Given the description of an element on the screen output the (x, y) to click on. 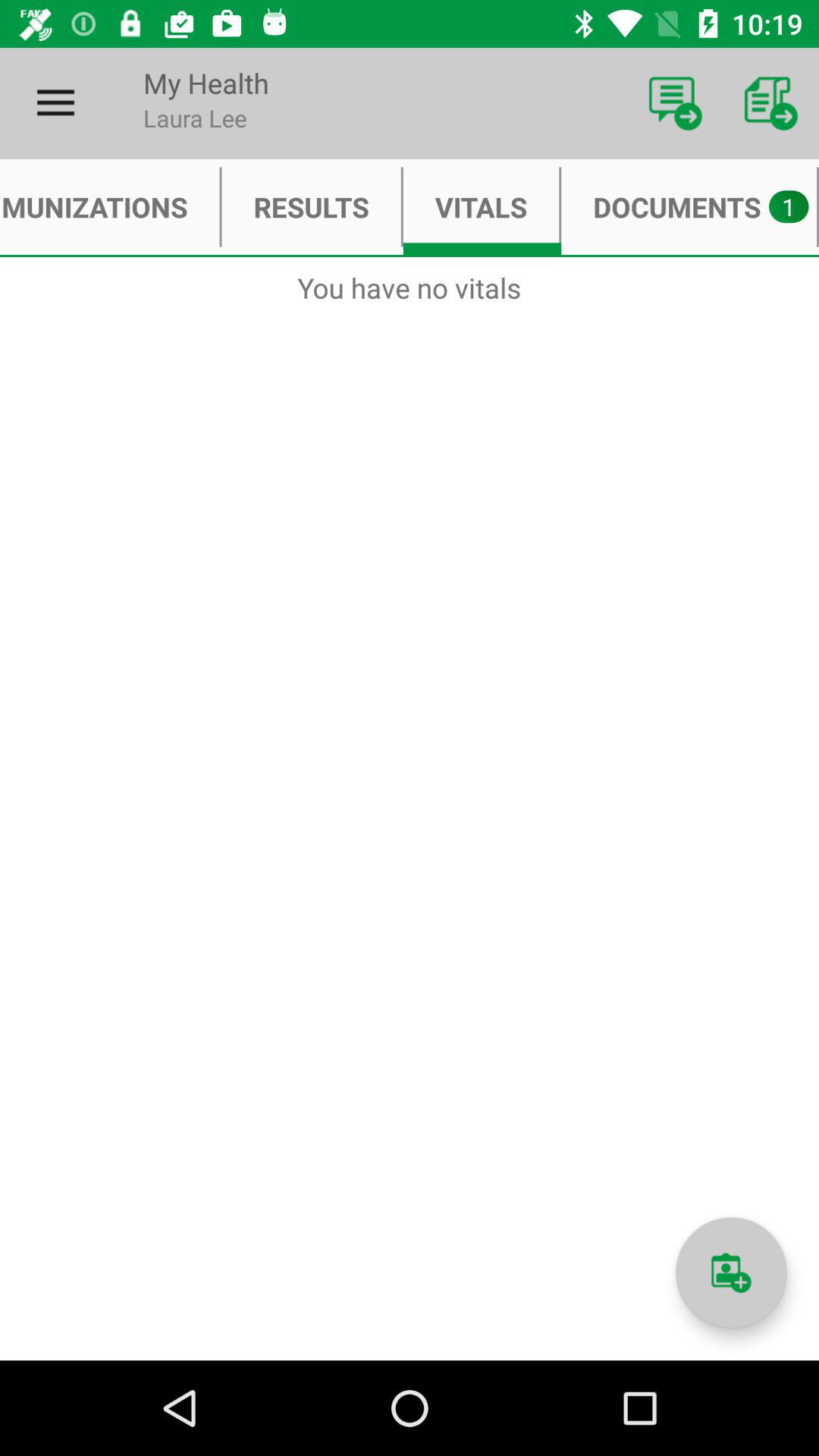
add new person (731, 1272)
